Given the description of an element on the screen output the (x, y) to click on. 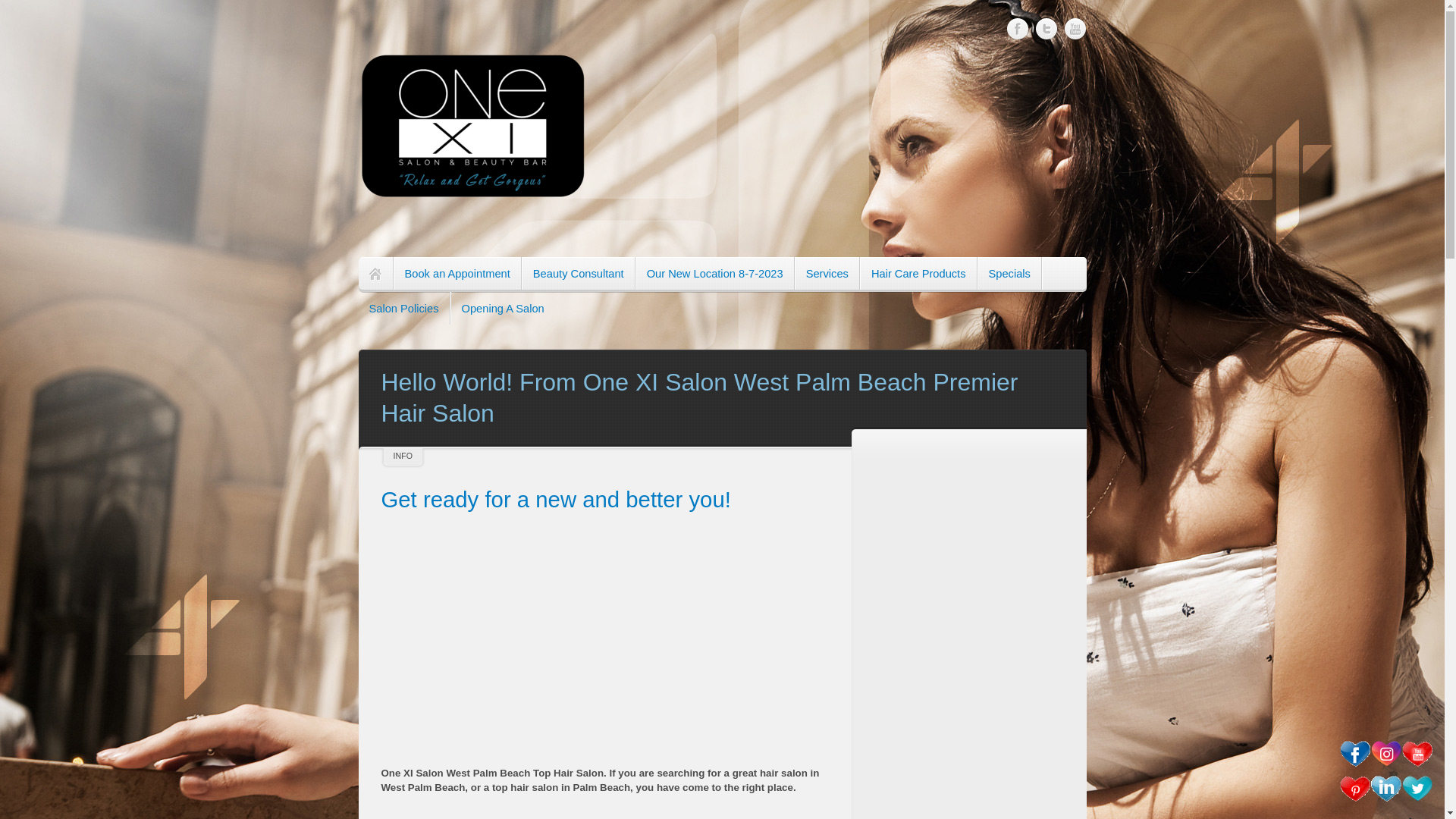
Services (826, 274)
Visit Us On Linkedin (1385, 800)
Visit Us On Youtube (1416, 766)
Visit Us On Instagram (1385, 766)
Hair Care Products (918, 274)
Twitter (1046, 29)
Youtube (1075, 29)
Book an Appointment (457, 274)
Visit Us On Facebook (1354, 766)
Home (374, 274)
Opening A Salon (502, 308)
Facebook (1018, 29)
Visit Us On Twitter (1416, 800)
Specials (1009, 274)
Youtube (1075, 29)
